Given the description of an element on the screen output the (x, y) to click on. 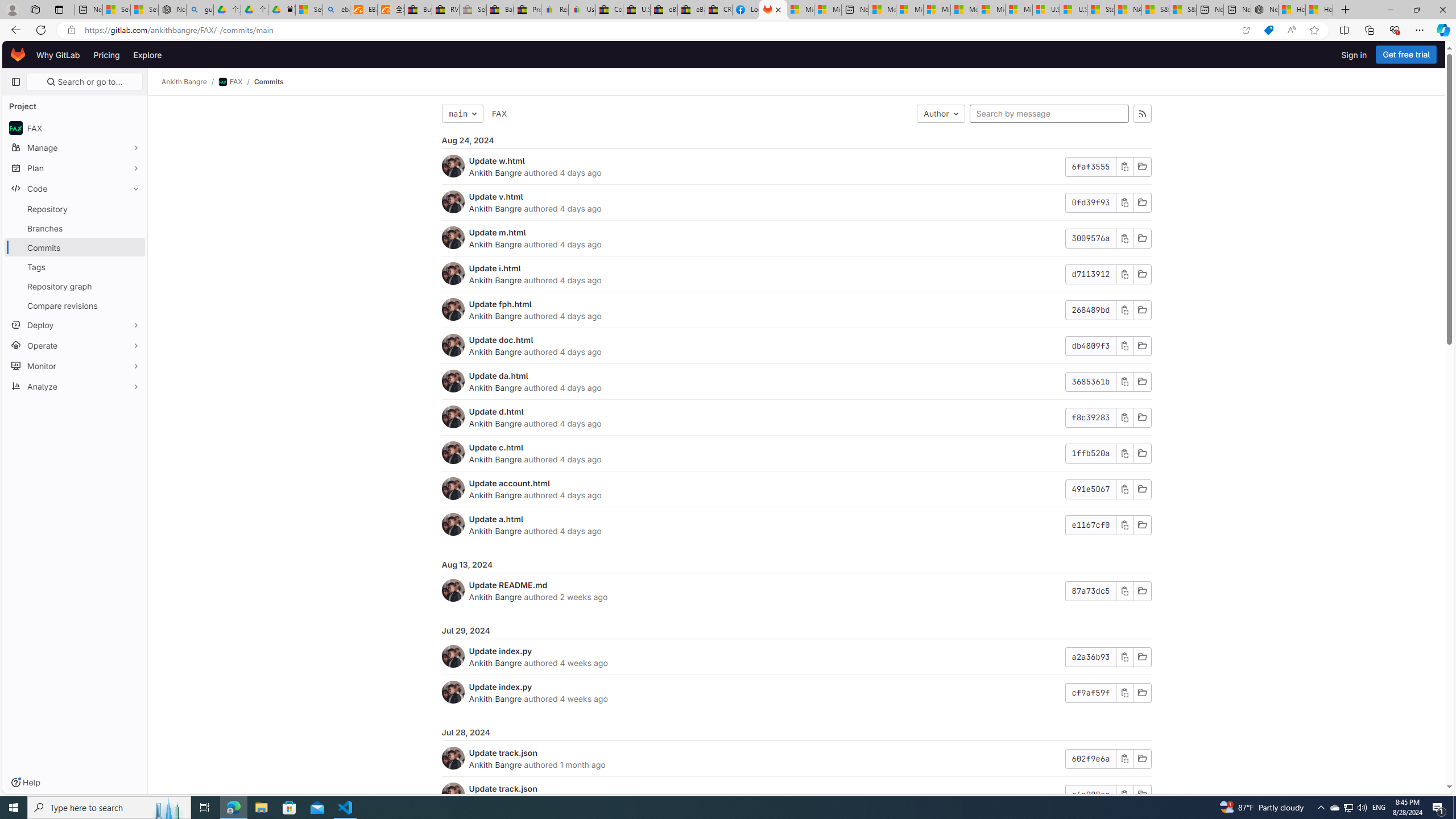
Repository graph (74, 285)
Update fph.htmlAnkith Bangre authored 4 days ago268489bd (796, 310)
Compare revisions (74, 305)
Manage (74, 147)
Commits (268, 81)
Pricing (106, 54)
Tags (74, 266)
Update da.htmlAnkith Bangre authored 4 days ago3685361b (796, 381)
Consumer Health Data Privacy Policy - eBay Inc. (609, 9)
Commits (268, 81)
Copy commit SHA (1124, 794)
avatar FAX (74, 127)
